Given the description of an element on the screen output the (x, y) to click on. 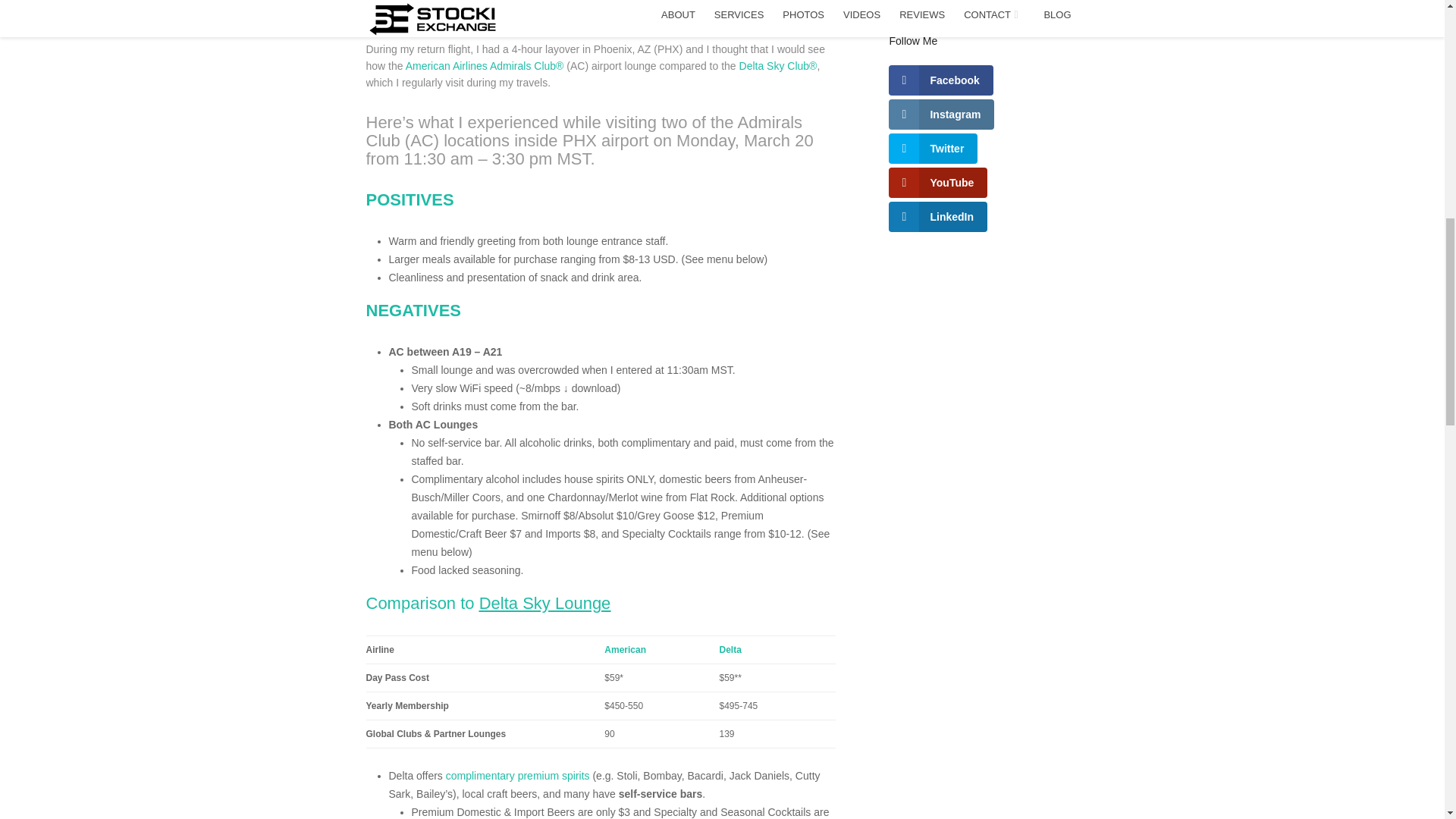
American (625, 649)
Delta (730, 649)
complimentary premium spirits (517, 775)
Delta Sky Lounge (545, 602)
